Given the description of an element on the screen output the (x, y) to click on. 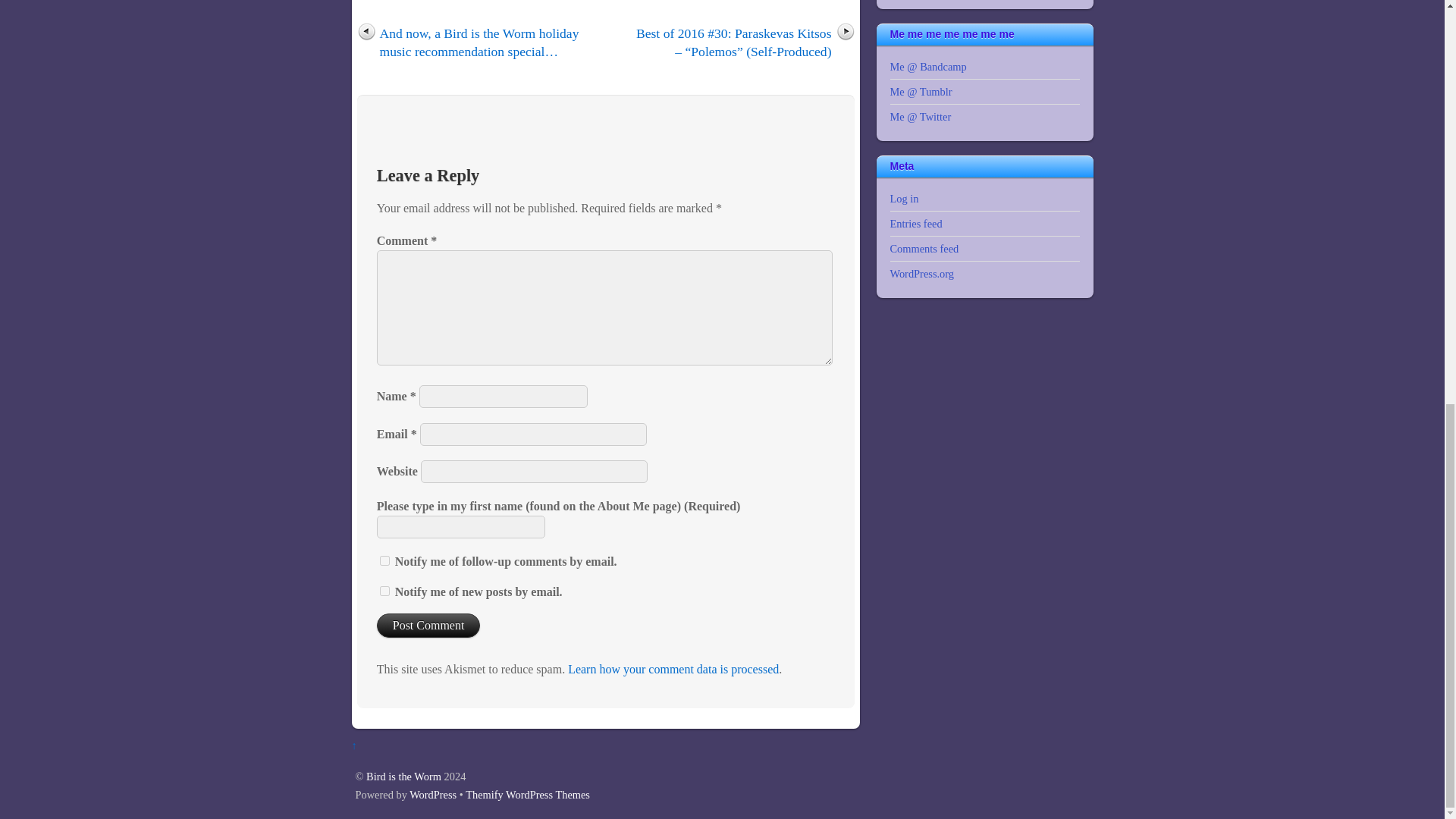
Learn how your comment data is processed (672, 668)
subscribe (385, 591)
Post Comment (428, 625)
Post Comment (428, 625)
subscribe (385, 560)
